Given the description of an element on the screen output the (x, y) to click on. 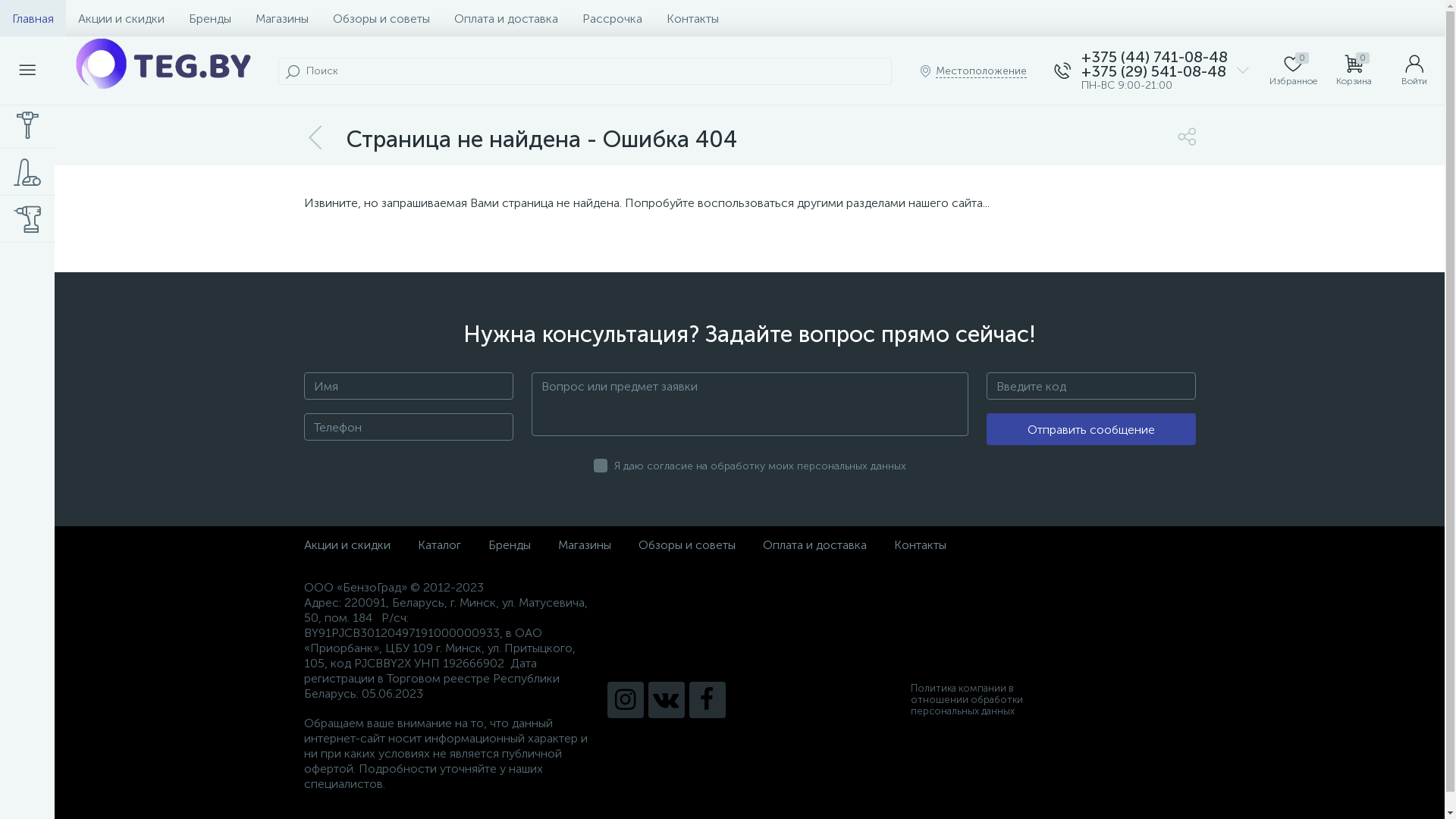
Facebook Element type: hover (706, 698)
logo-teg.by.png Element type: hover (162, 63)
Instagram Element type: hover (624, 698)
